Given the description of an element on the screen output the (x, y) to click on. 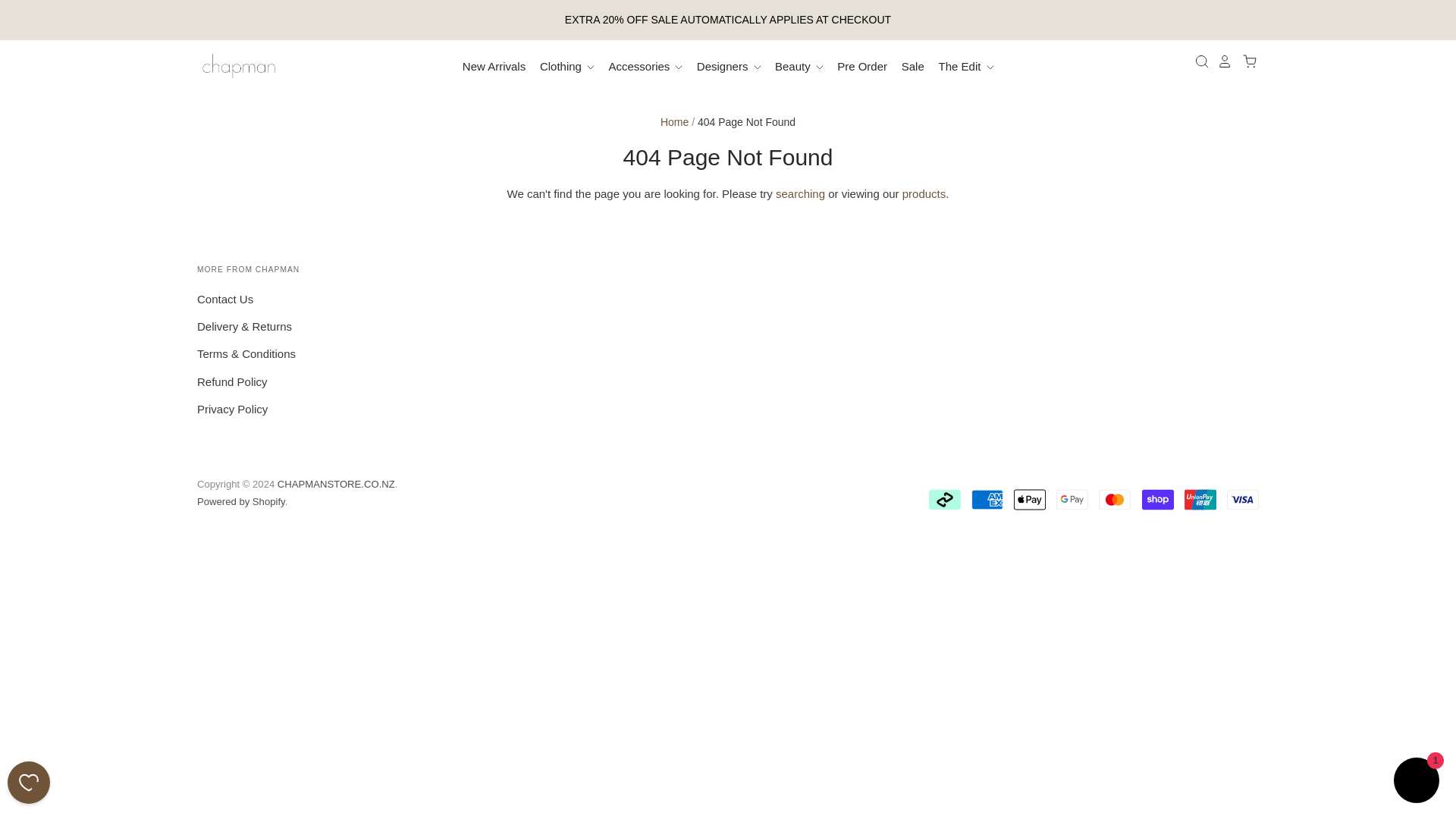
Google Pay (1072, 499)
Mastercard (1115, 499)
Shop Pay (1157, 499)
Union Pay (1200, 499)
Afterpay (944, 499)
American Express (987, 499)
Visa (1243, 499)
Apple Pay (1029, 499)
